Given the description of an element on the screen output the (x, y) to click on. 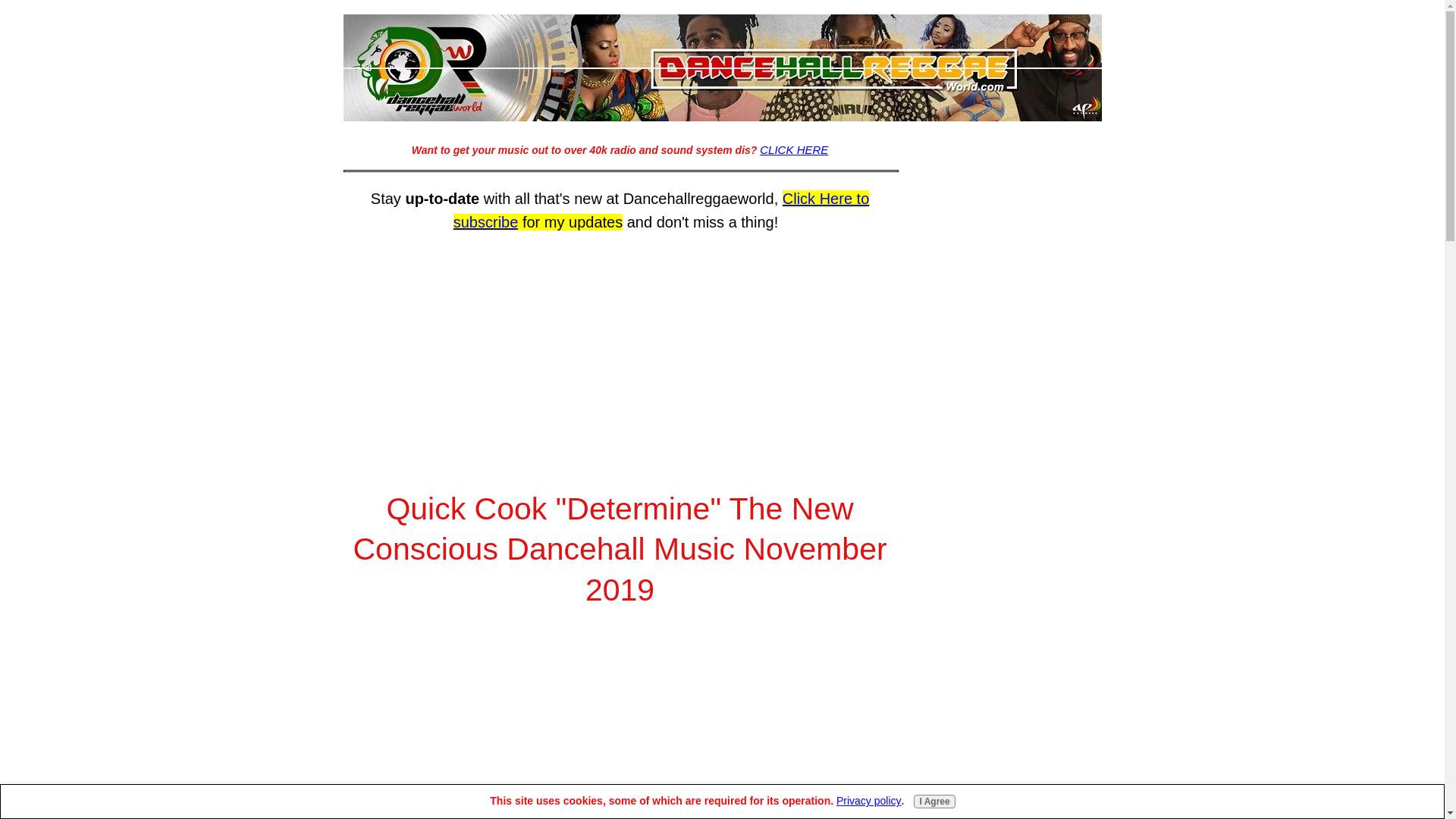
Privacy policy (868, 800)
I Agree (934, 801)
CLICK HERE (794, 150)
Click Here to subscribe (660, 210)
